Given the description of an element on the screen output the (x, y) to click on. 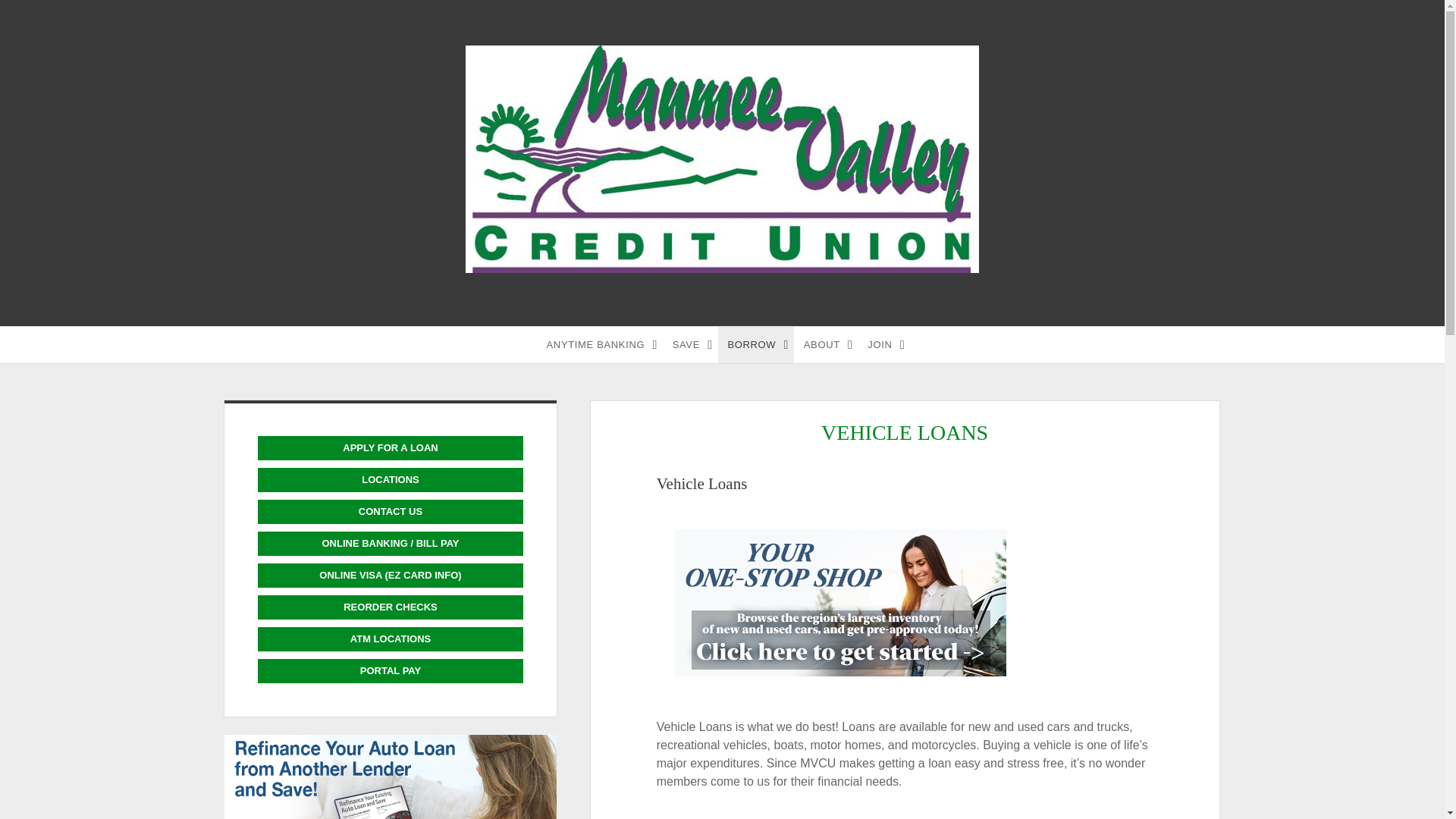
Maumee Valley Credit Union (721, 265)
open dropdown menu (850, 344)
open dropdown menu (654, 344)
open dropdown menu (709, 344)
ABOUT (826, 344)
BORROW (755, 344)
ANYTIME BANKING (600, 344)
SAVE (690, 344)
open dropdown menu (785, 344)
